Given the description of an element on the screen output the (x, y) to click on. 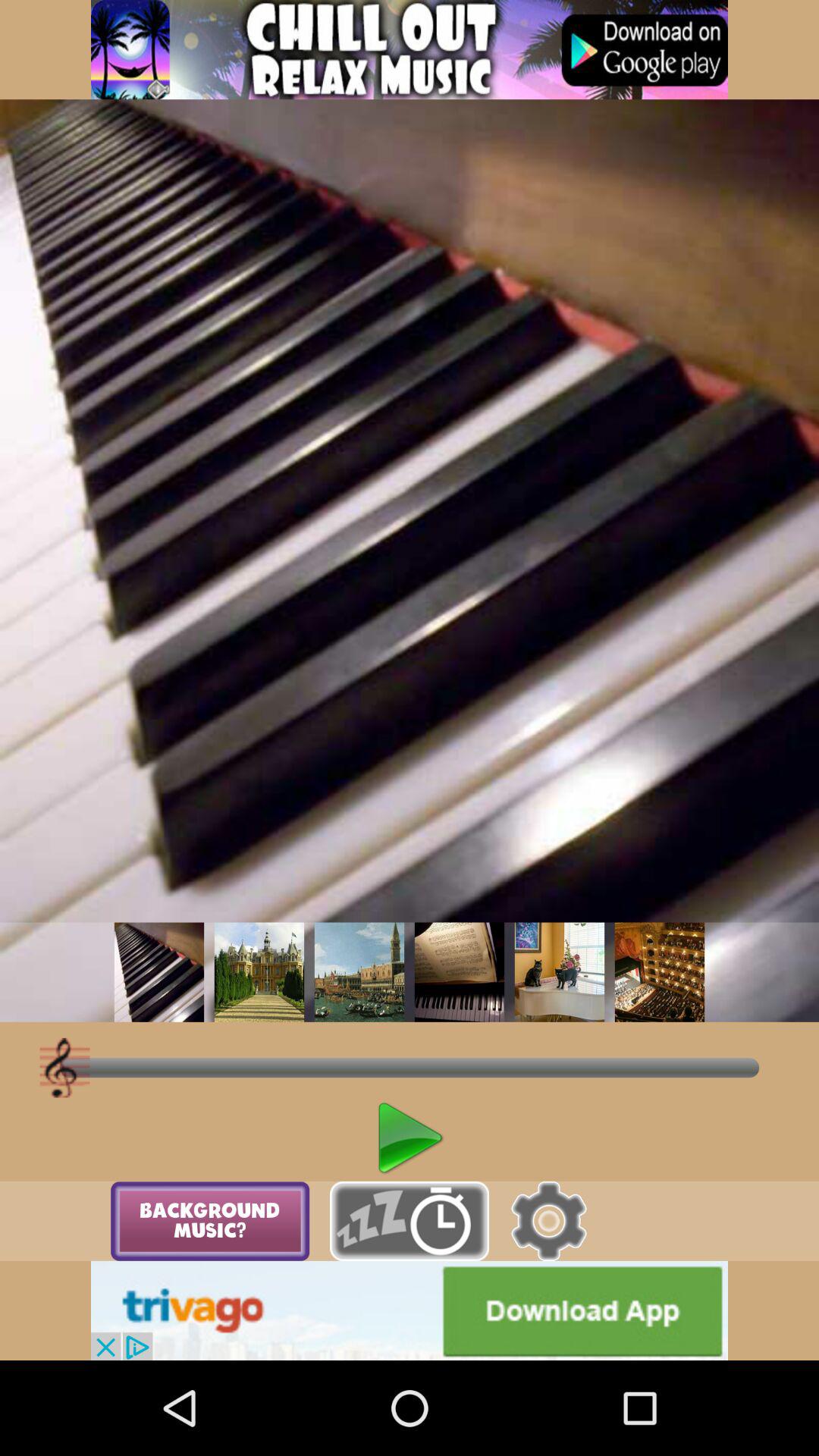
change background (359, 972)
